Given the description of an element on the screen output the (x, y) to click on. 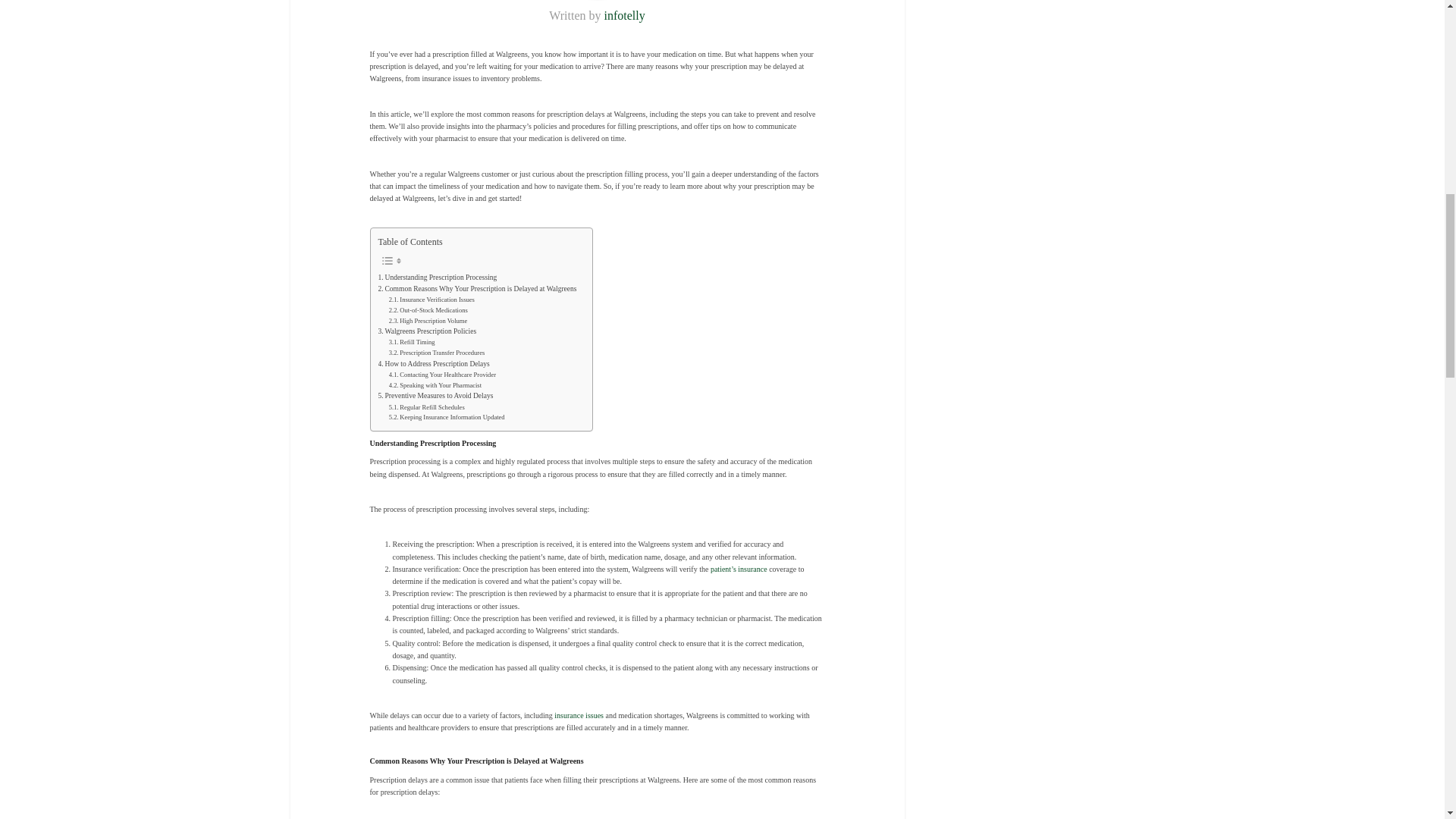
Walgreens Prescription Policies (426, 331)
Insurance Verification Issues (431, 299)
Common Reasons Why Your Prescription is Delayed at Walgreens (476, 288)
Understanding Prescription Processing (436, 277)
Prescription Transfer Procedures (436, 353)
Prescription Transfer Procedures (436, 353)
Keeping Insurance Information Updated (446, 417)
Walgreens Prescription Policies (426, 331)
Insurance Verification Issues (431, 299)
Refill Timing (411, 342)
